Given the description of an element on the screen output the (x, y) to click on. 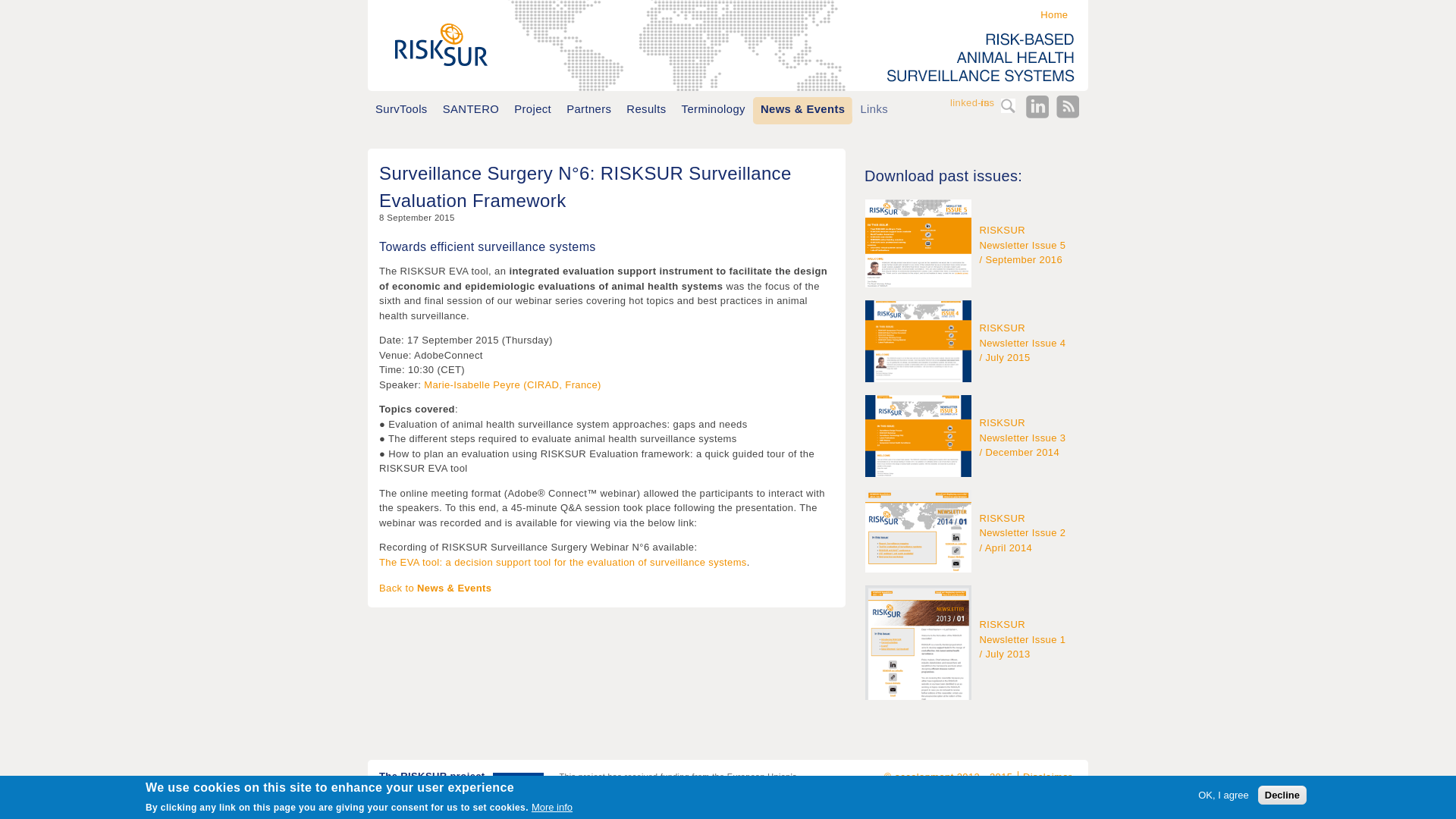
Project (532, 109)
Home (1051, 14)
Results (645, 109)
Search (1007, 105)
SurvTools (401, 109)
rss (1067, 106)
Enter the terms you wish to search for. (934, 106)
SANTERO (470, 109)
Partners (588, 109)
Terminology (713, 109)
Home (438, 42)
linked-in (1037, 106)
Links (873, 109)
Search (1007, 105)
